Given the description of an element on the screen output the (x, y) to click on. 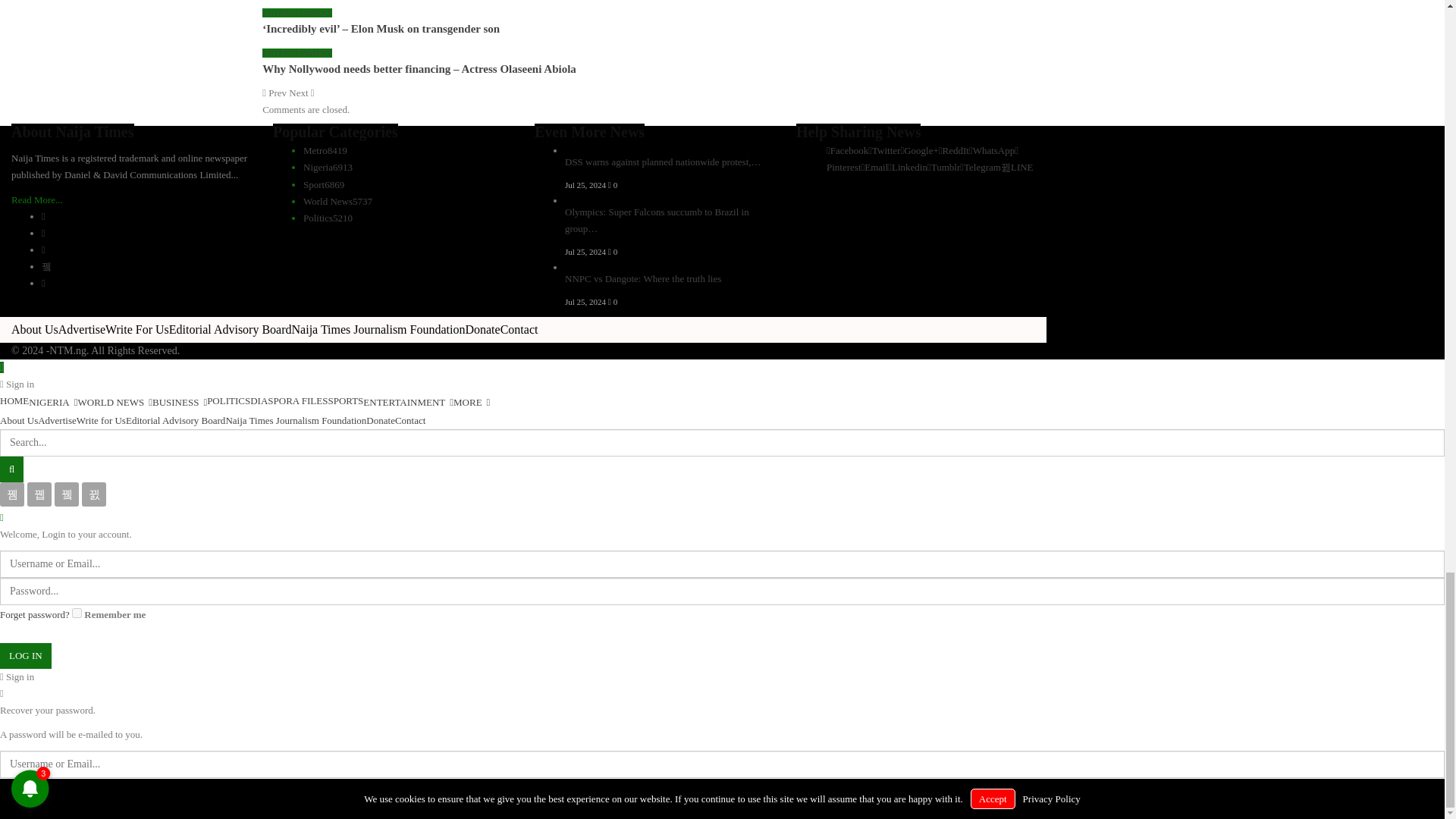
Previous (275, 92)
Log In (25, 655)
forever (76, 613)
Next (301, 92)
